Given the description of an element on the screen output the (x, y) to click on. 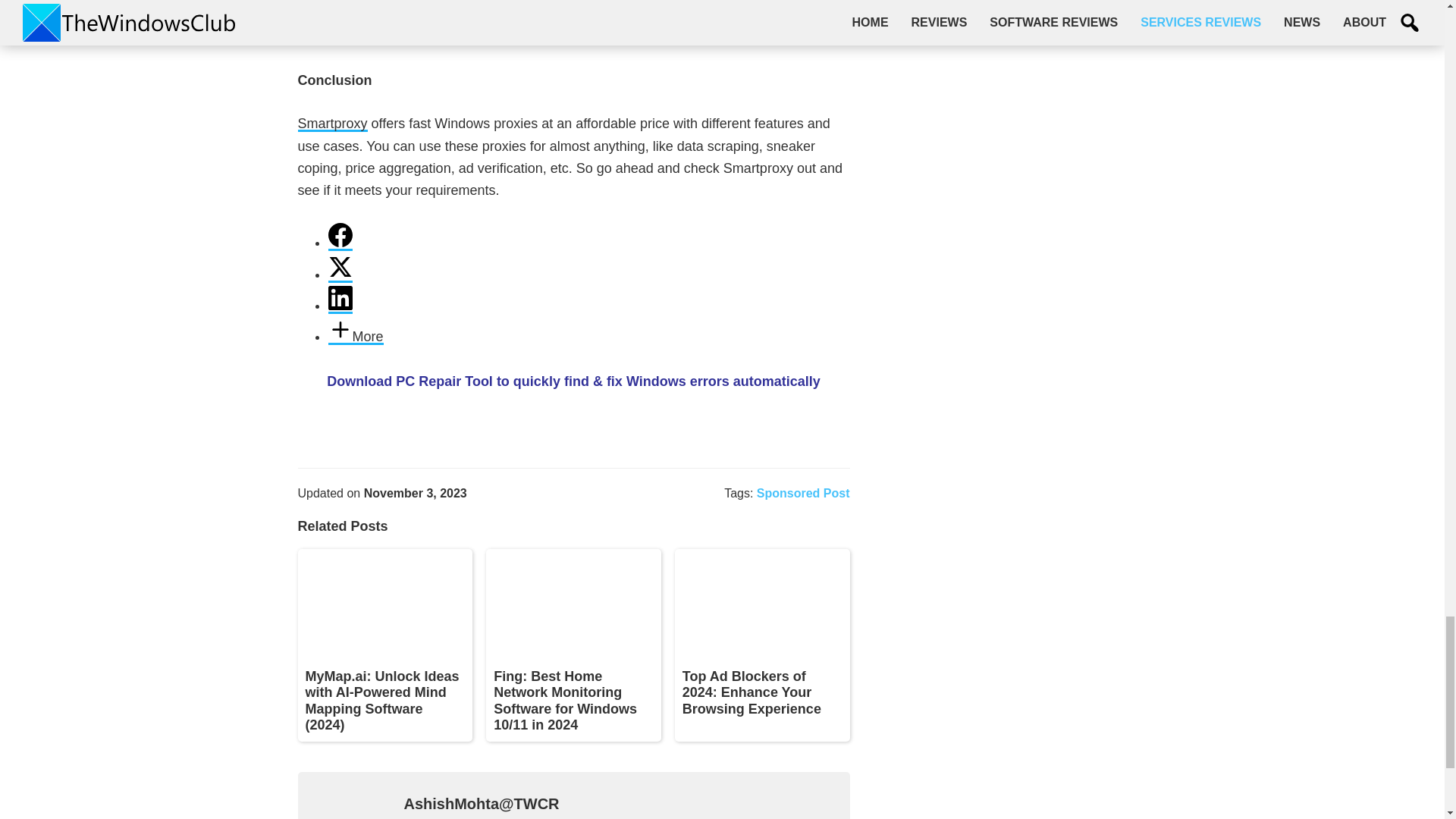
Smartproxy Pricing (572, 23)
Top Ad Blockers of 2024: Enhance Your Browsing Experience (751, 692)
Sponsored Post (803, 492)
More (354, 336)
Smartproxy (331, 123)
